Given the description of an element on the screen output the (x, y) to click on. 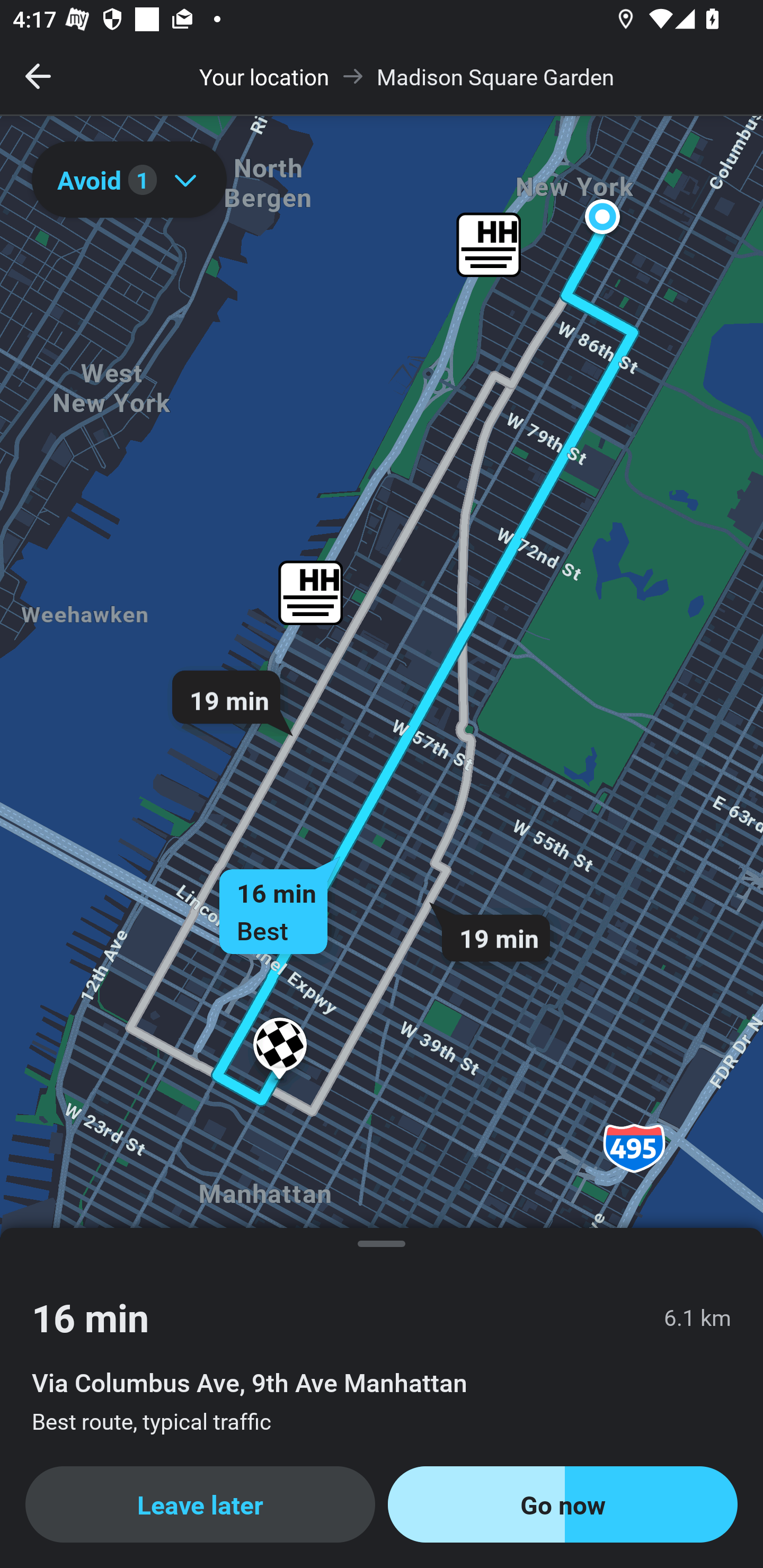
Leave later (200, 1504)
Go now (562, 1504)
